Given the description of an element on the screen output the (x, y) to click on. 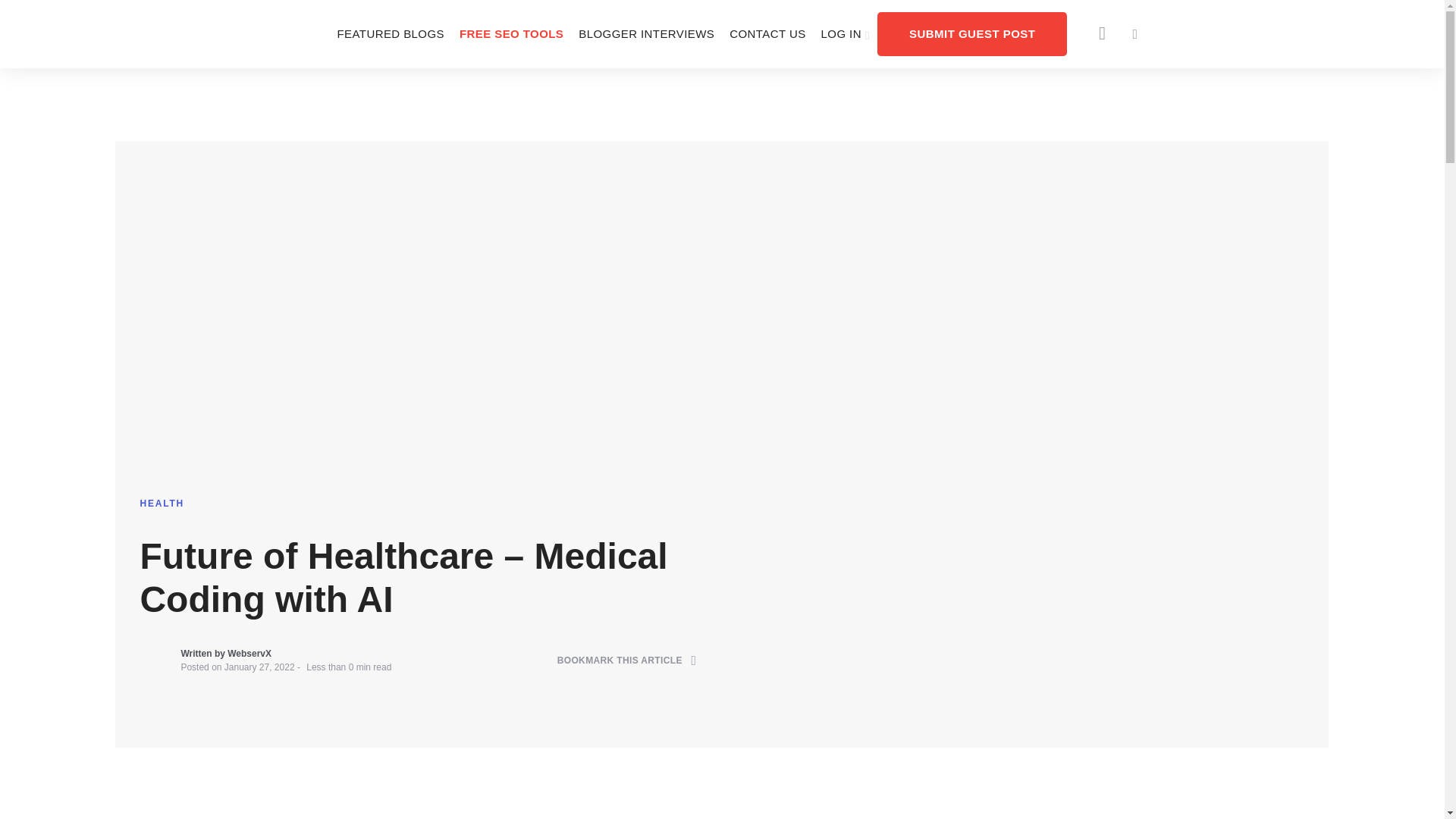
FEATURED BLOGS (390, 33)
SUBMIT GUEST POST (972, 33)
HEALTH (161, 502)
LOG IN (845, 33)
FEATURED BLOGS (390, 33)
SUBMIT GUEST POST (972, 33)
WebservX (248, 653)
CONTACT US (767, 33)
CONTACT US (767, 33)
LOG IN (845, 33)
FREE SEO TOOLS (510, 33)
BLOGGER INTERVIEWS (646, 33)
FREE SEO TOOLS (510, 33)
BLOGGER INTERVIEWS (646, 33)
January 27, 2022 (259, 666)
